Given the description of an element on the screen output the (x, y) to click on. 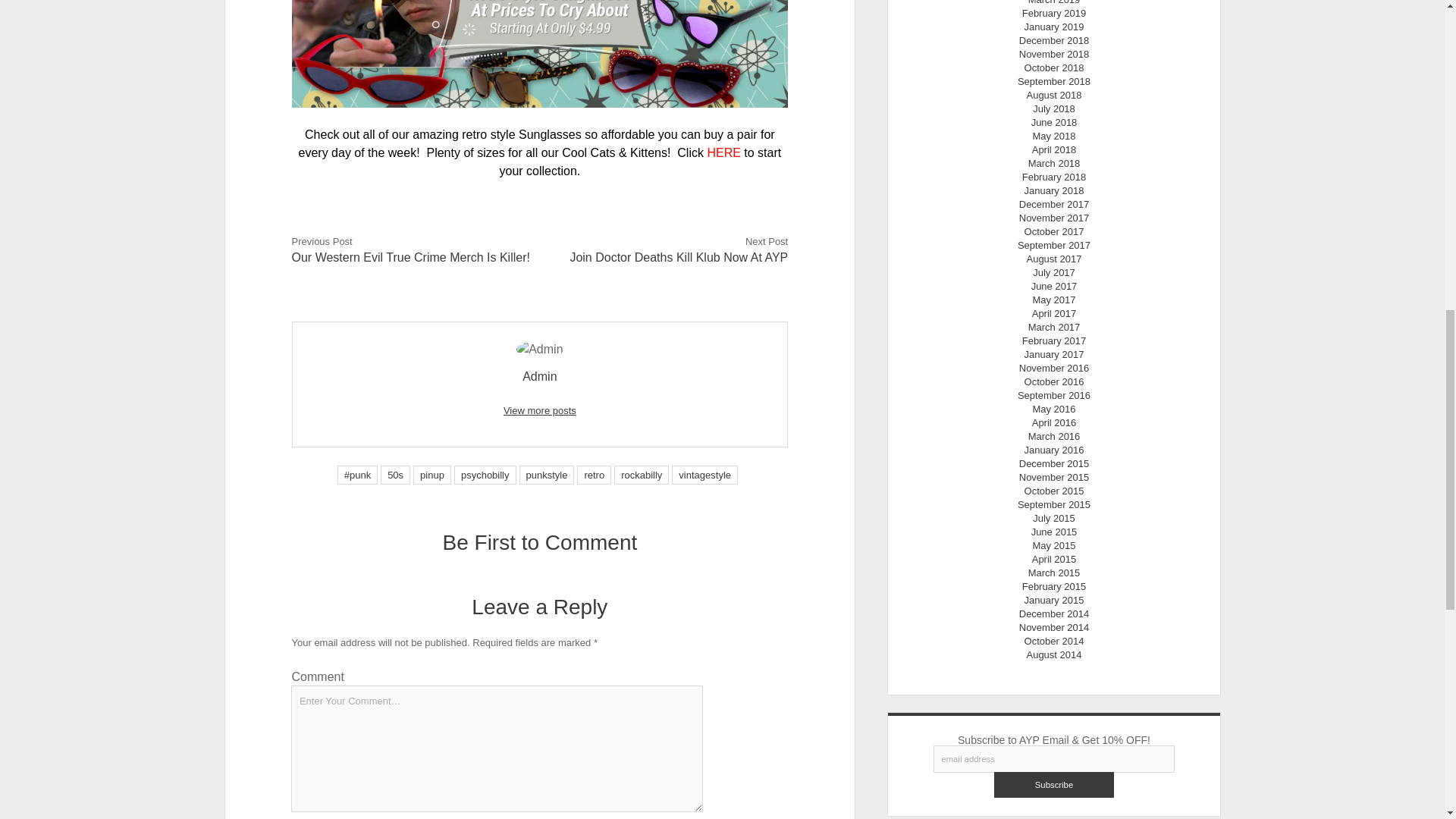
View all posts tagged 50s (395, 475)
punkstyle (546, 475)
Subscribe (1053, 784)
vintagestyle (704, 475)
rockabilly (641, 475)
retro (594, 475)
50s (395, 475)
View more posts (539, 410)
HERE (722, 152)
pinup (431, 475)
psychobilly (484, 475)
Our Western Evil True Crime Merch Is Killer! (410, 256)
Join Doctor Deaths Kill Klub Now At AYP (678, 256)
